Given the description of an element on the screen output the (x, y) to click on. 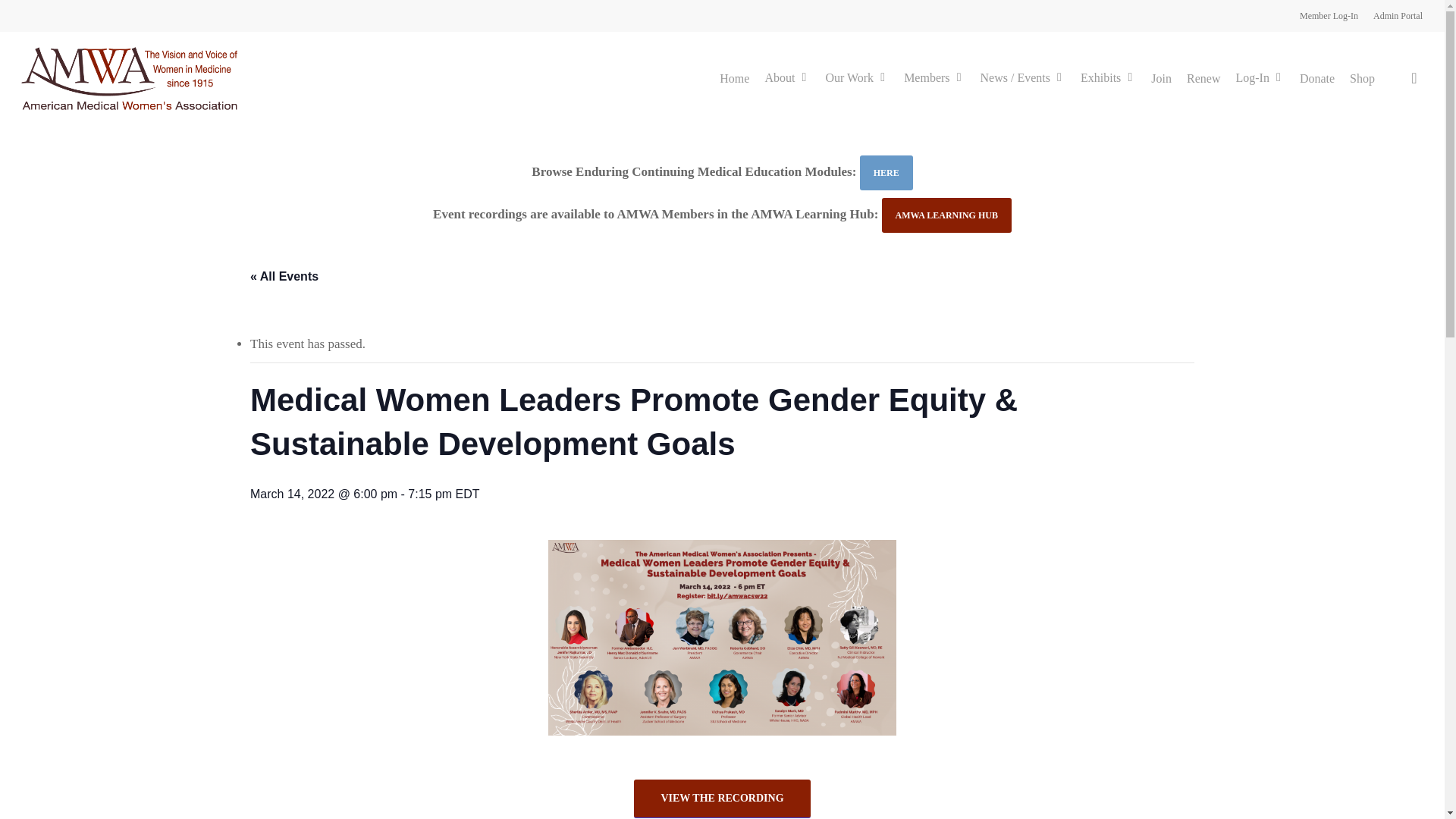
Member Log-In (1329, 15)
Our Work (856, 78)
Admin Portal (1397, 15)
Home (734, 78)
About (786, 78)
